Given the description of an element on the screen output the (x, y) to click on. 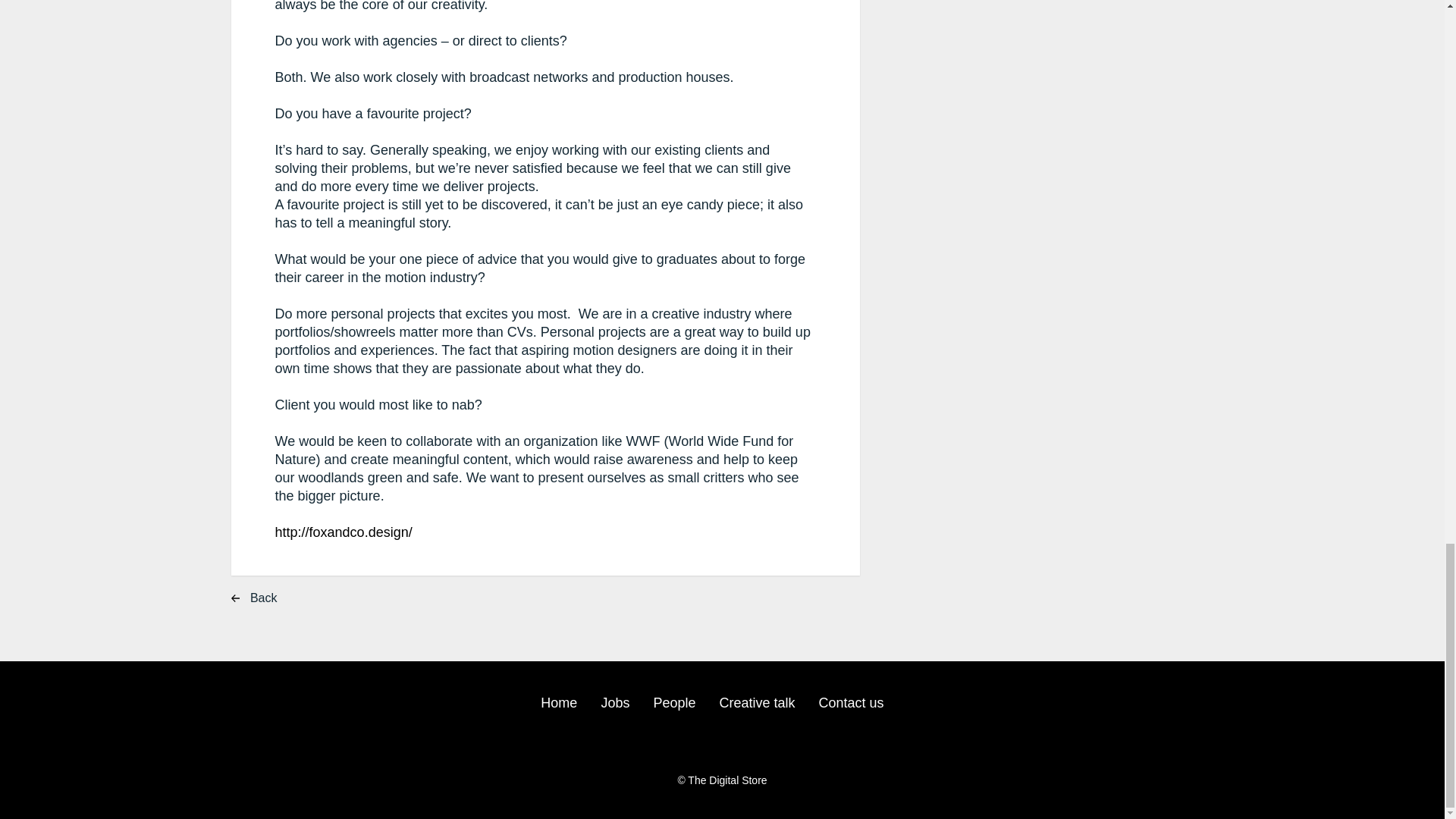
Creative talk (756, 704)
People (673, 704)
Contact us (850, 704)
Back (268, 599)
Jobs (613, 704)
Home (558, 704)
